Given the description of an element on the screen output the (x, y) to click on. 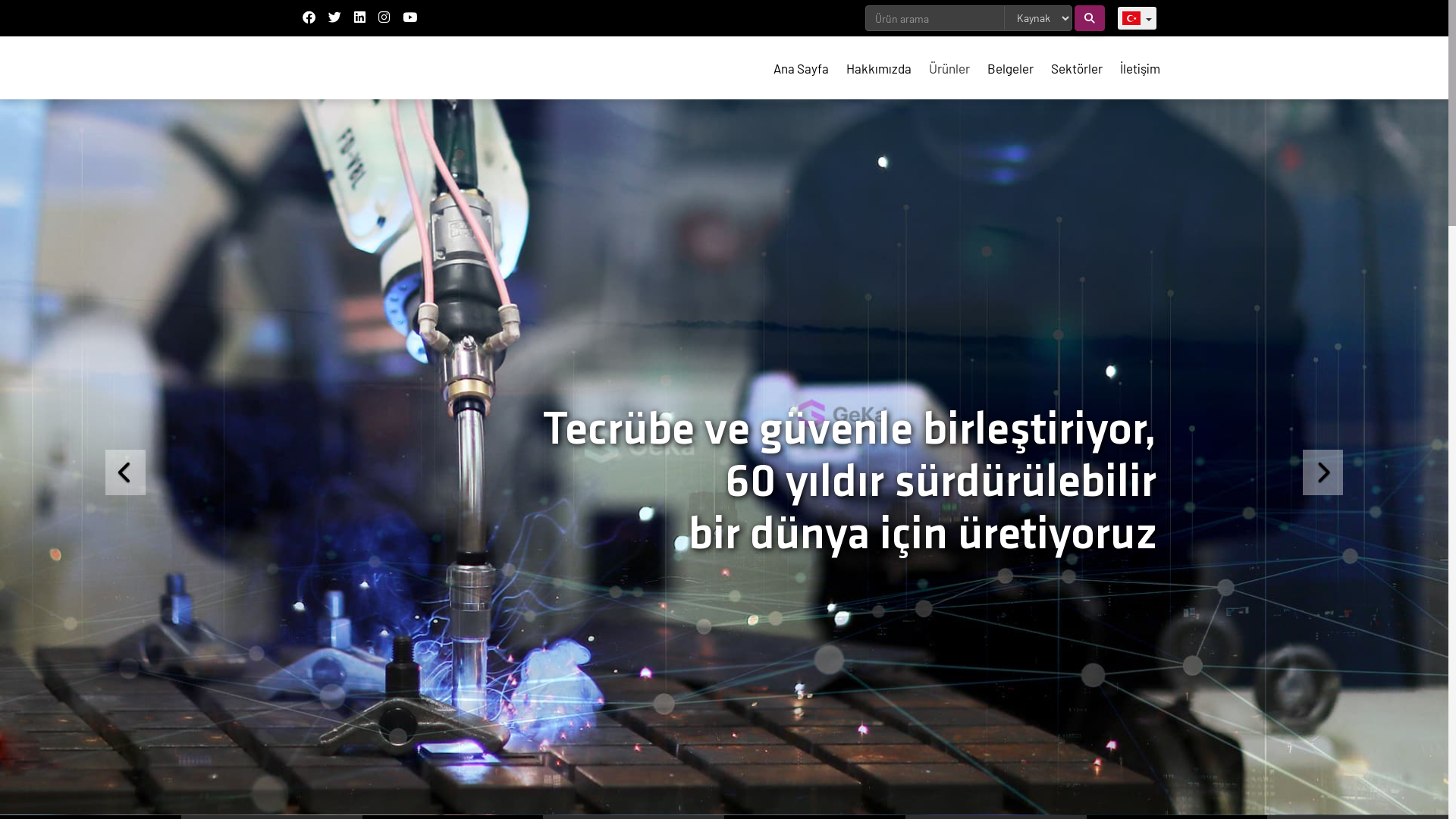
Belgeler Element type: text (1010, 68)
Ana Sayfa Element type: text (800, 68)
